Given the description of an element on the screen output the (x, y) to click on. 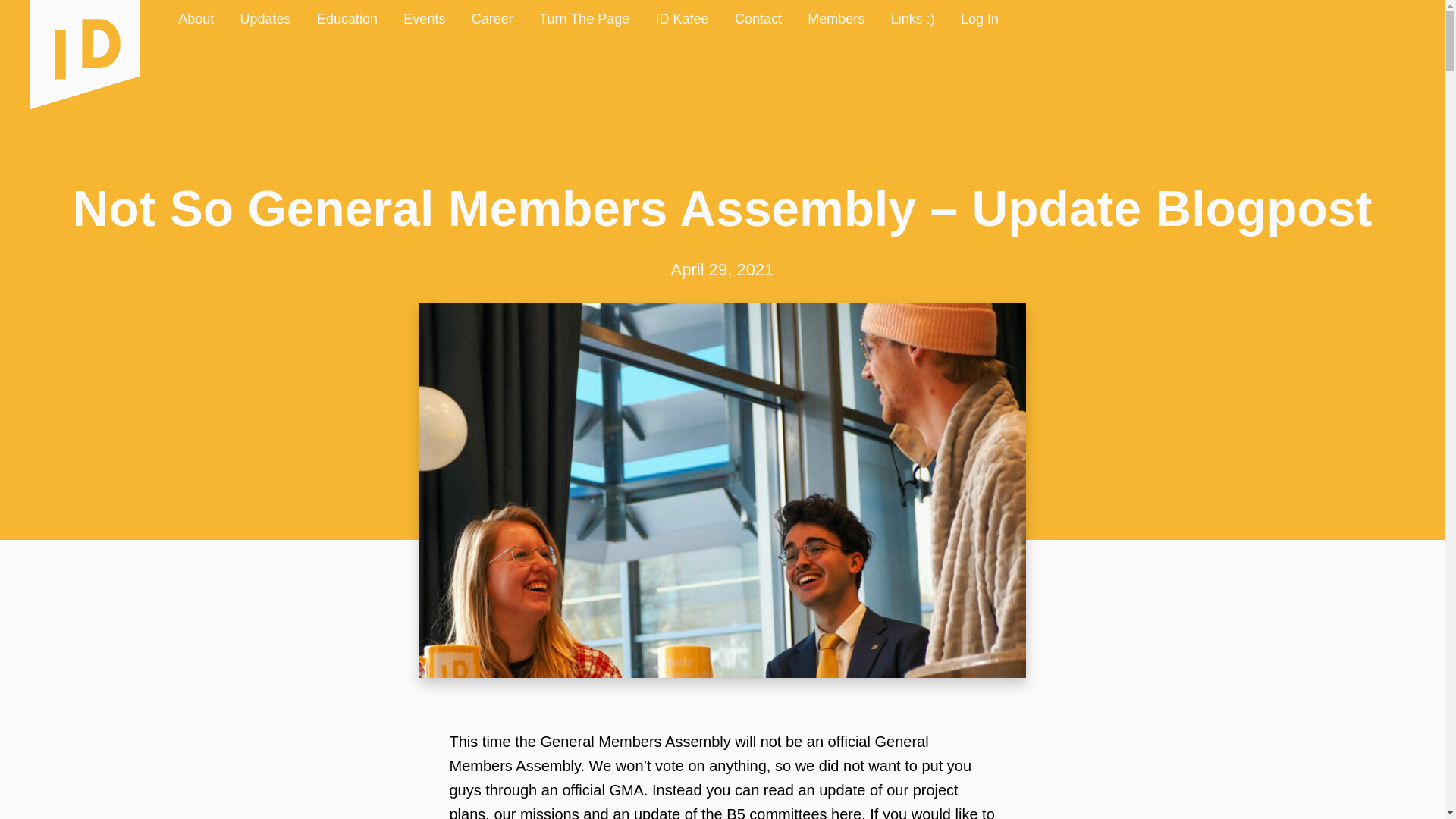
Updates (264, 19)
Career (492, 19)
Contact (758, 19)
ID Kafee (682, 19)
Turn The Page (584, 19)
Members (836, 19)
Education (346, 19)
About (196, 19)
Events (425, 19)
